Given the description of an element on the screen output the (x, y) to click on. 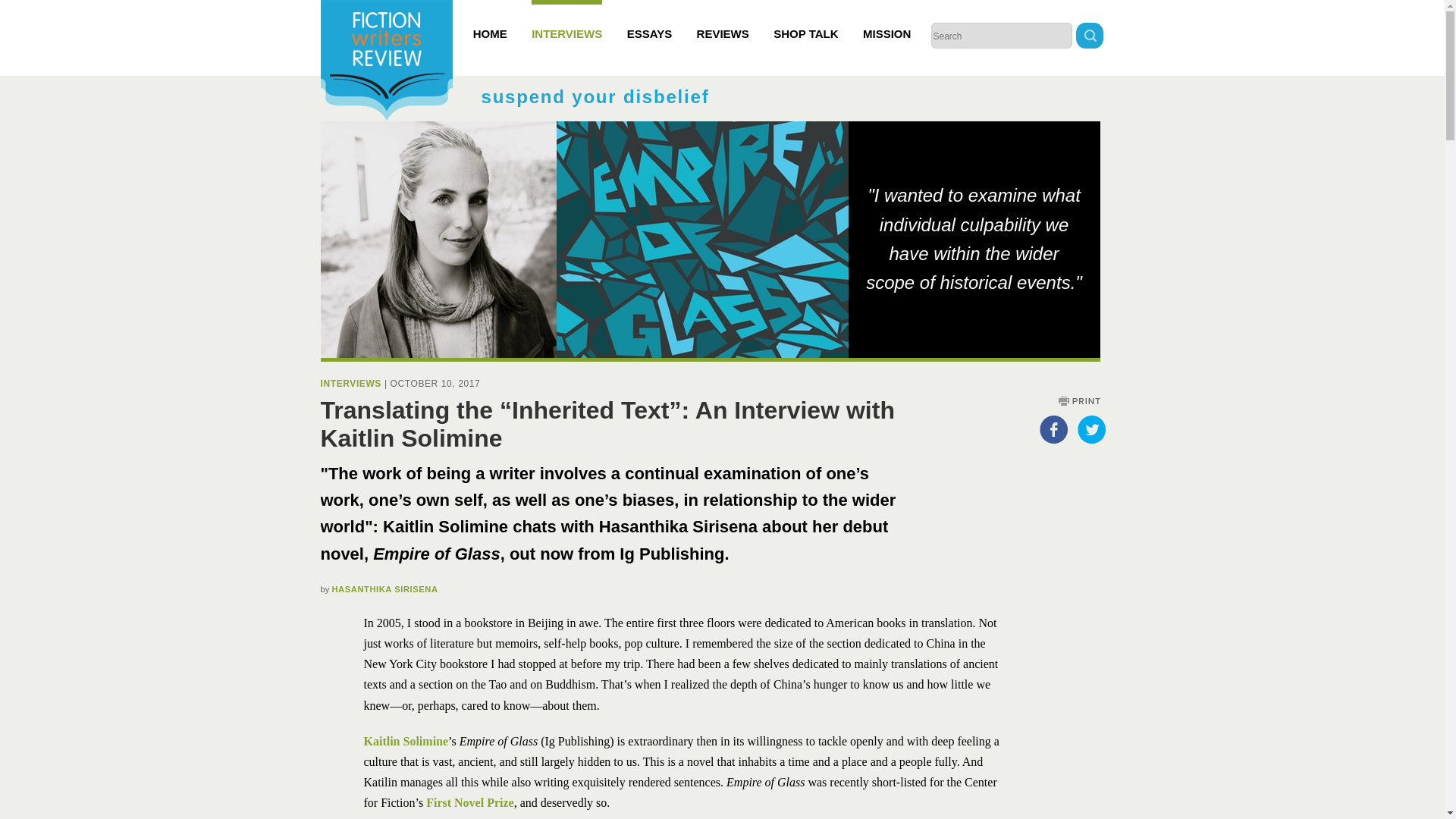
ESSAYS (649, 20)
Return home (385, 61)
REVIEWS (723, 20)
HASANTHIKA SIRISENA (384, 588)
Search (1088, 36)
INTERVIEWS (350, 383)
Kaitlin Solimine (406, 740)
INTERVIEWS (566, 20)
MISSION (887, 20)
First Novel Prize (469, 802)
